Given the description of an element on the screen output the (x, y) to click on. 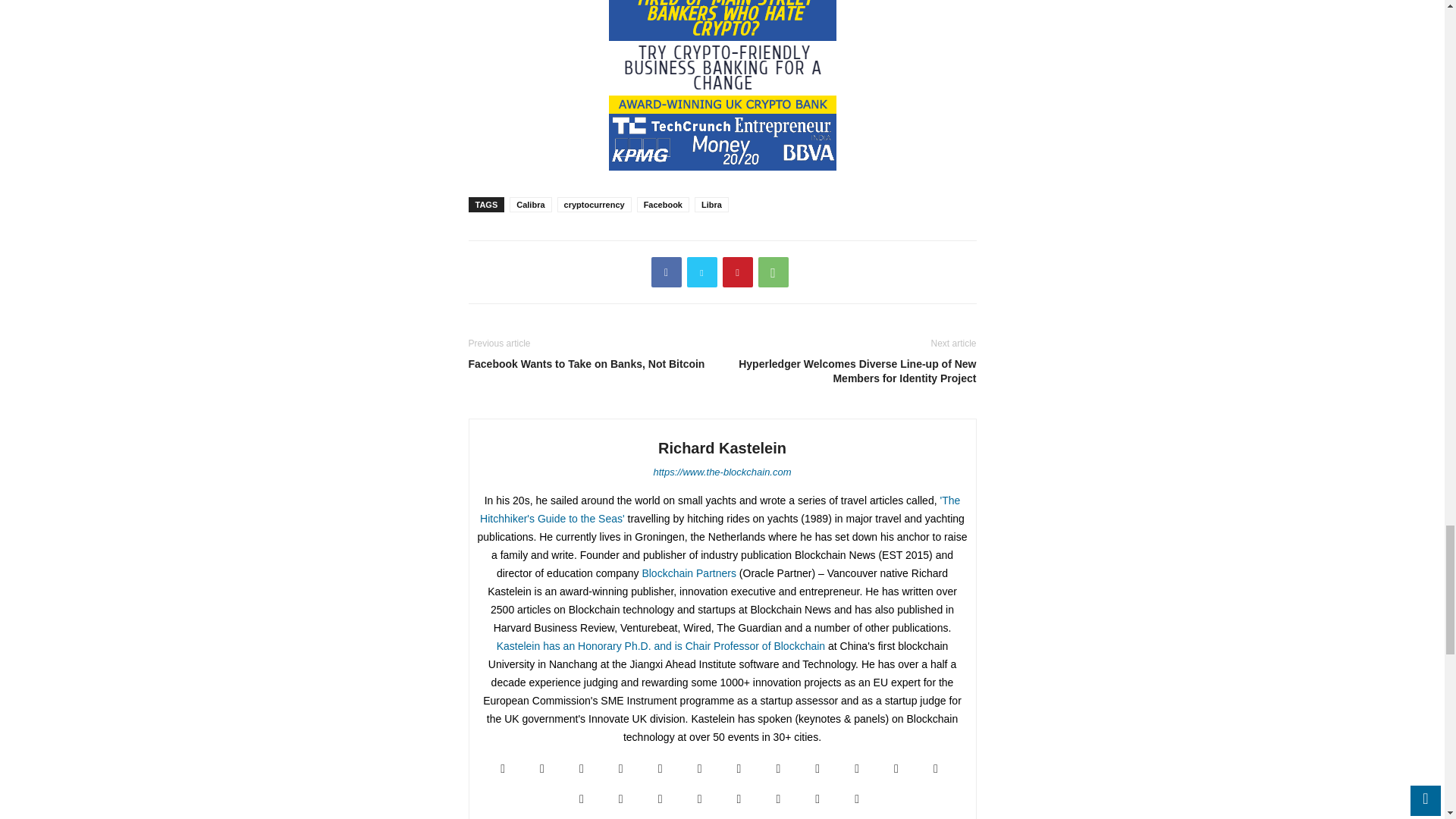
Behance (502, 768)
Calibra (530, 204)
Flickr (581, 768)
Libra (711, 204)
Twitter (702, 272)
Facebook (542, 768)
Facebook (662, 204)
Pinterest (737, 272)
WhatsApp (773, 272)
cryptocurrency (594, 204)
